Given the description of an element on the screen output the (x, y) to click on. 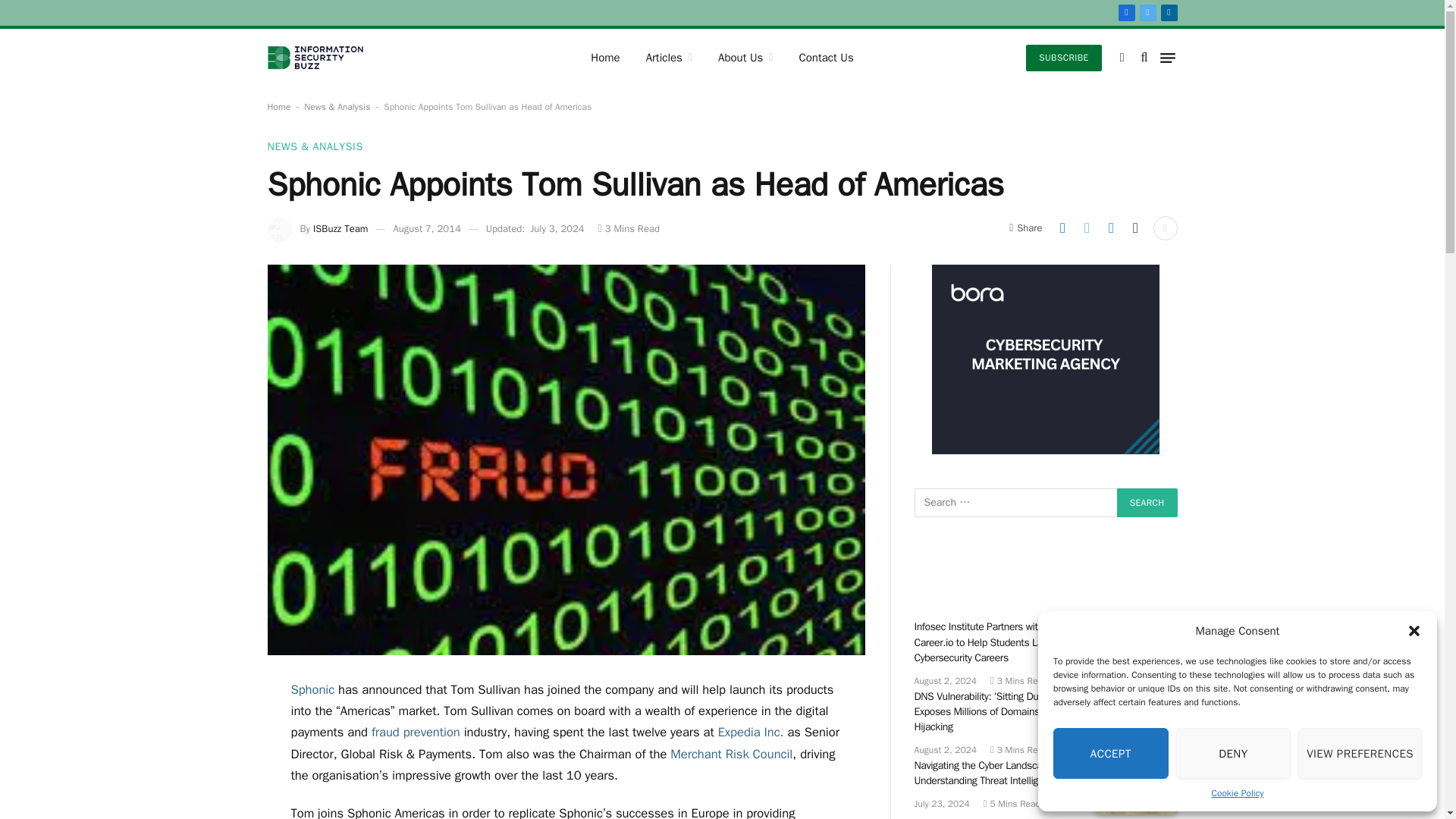
Cookie Policy (1237, 793)
Posts by ISBuzz Team (340, 228)
Copy Link (1135, 228)
Search (1146, 502)
Information Security Buzz (314, 57)
DENY (1233, 753)
Show More Social Sharing (1164, 228)
Search (1146, 502)
Switch to Dark Design - easier on eyes. (1122, 57)
VIEW PREFERENCES (1360, 753)
Share on Facebook (1110, 228)
ACCEPT (1110, 753)
Share on LinkedIn (1062, 228)
